Given the description of an element on the screen output the (x, y) to click on. 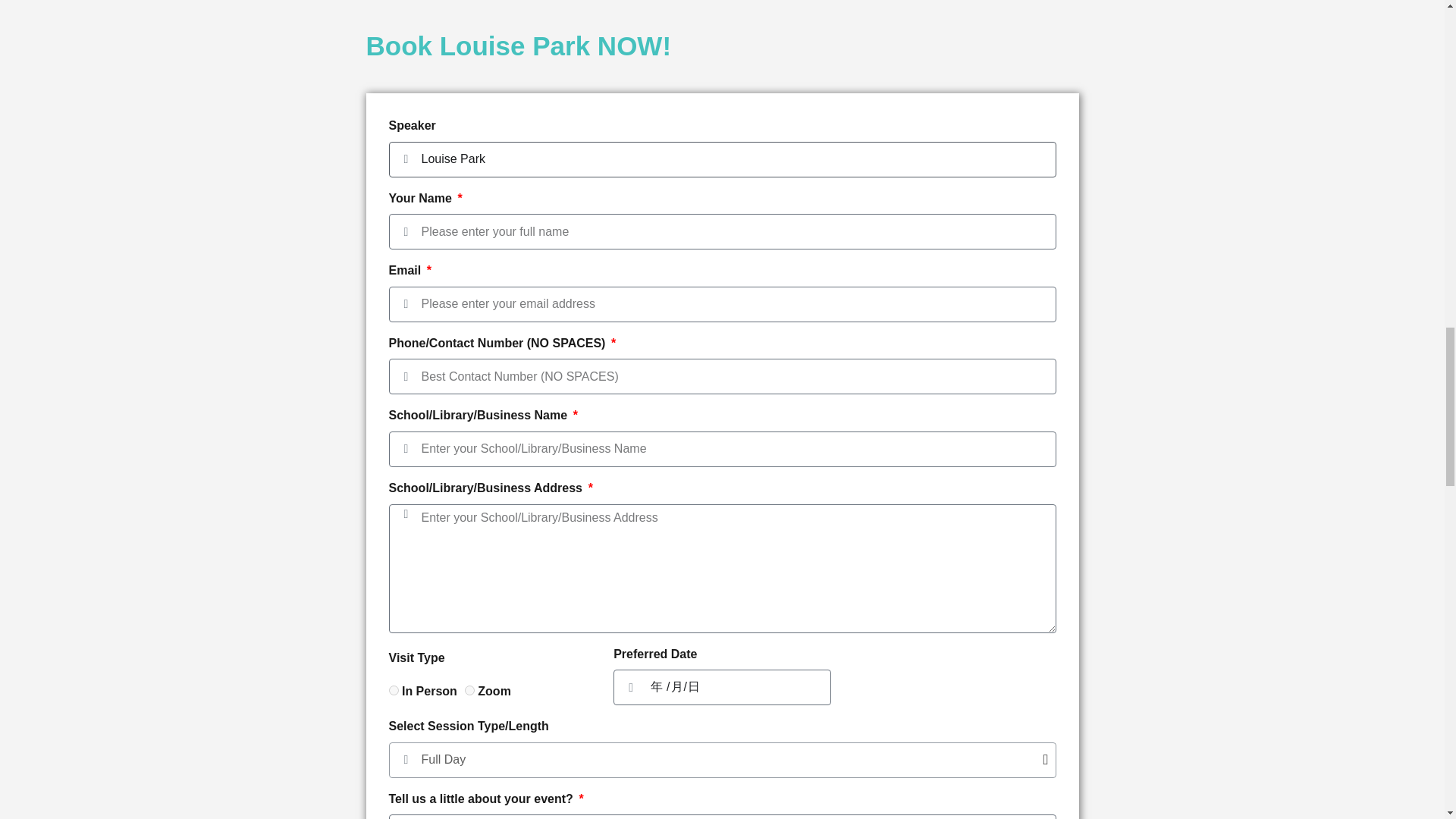
In Person (392, 690)
Zoom (469, 690)
Louise Park (721, 159)
